Given the description of an element on the screen output the (x, y) to click on. 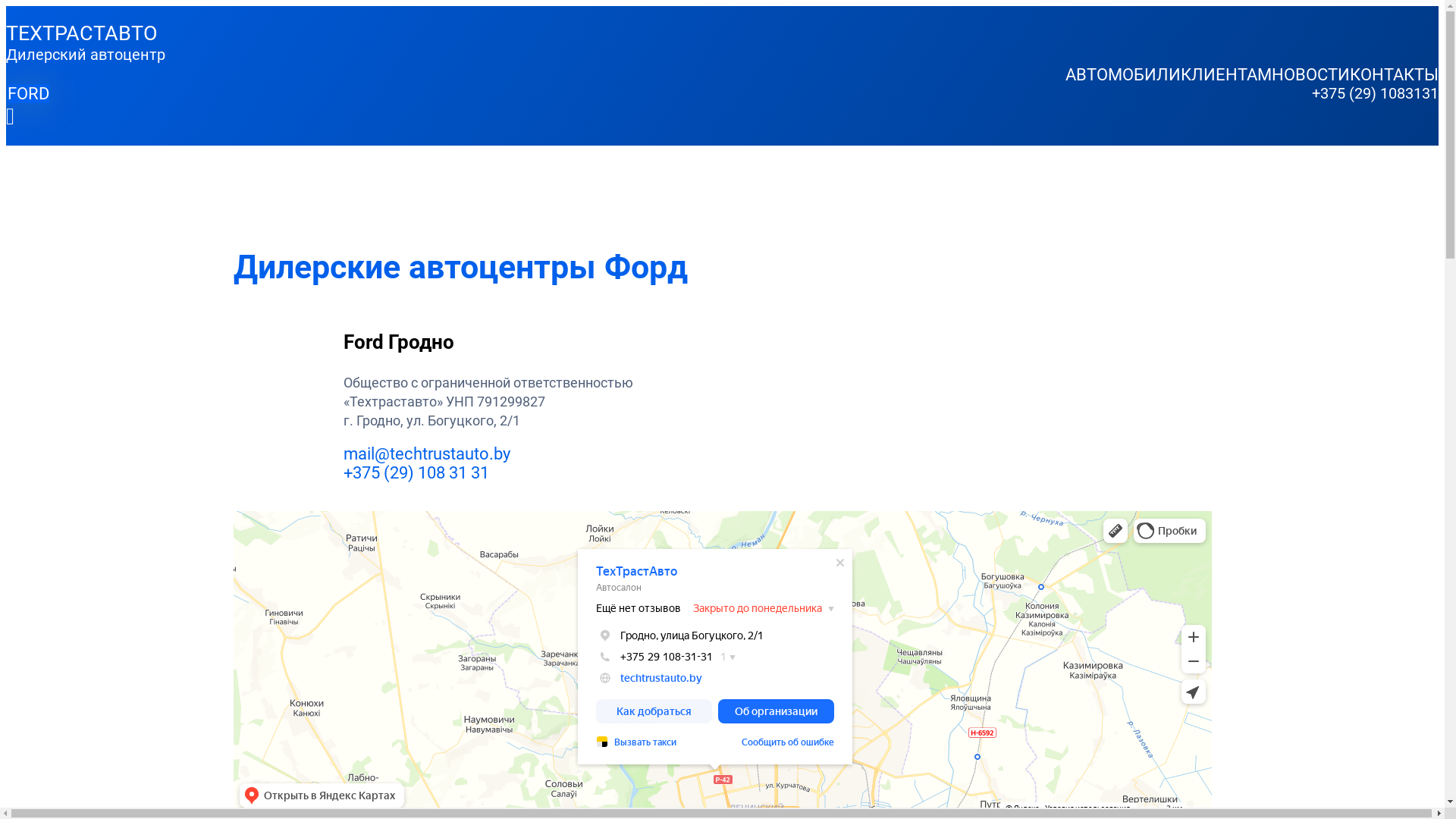
+375 (29) 1083131 Element type: text (722, 93)
mail@techtrustauto.by Element type: text (425, 453)
+375 (29) 108 31 31 Element type: text (415, 472)
FORD Element type: text (28, 93)
